Given the description of an element on the screen output the (x, y) to click on. 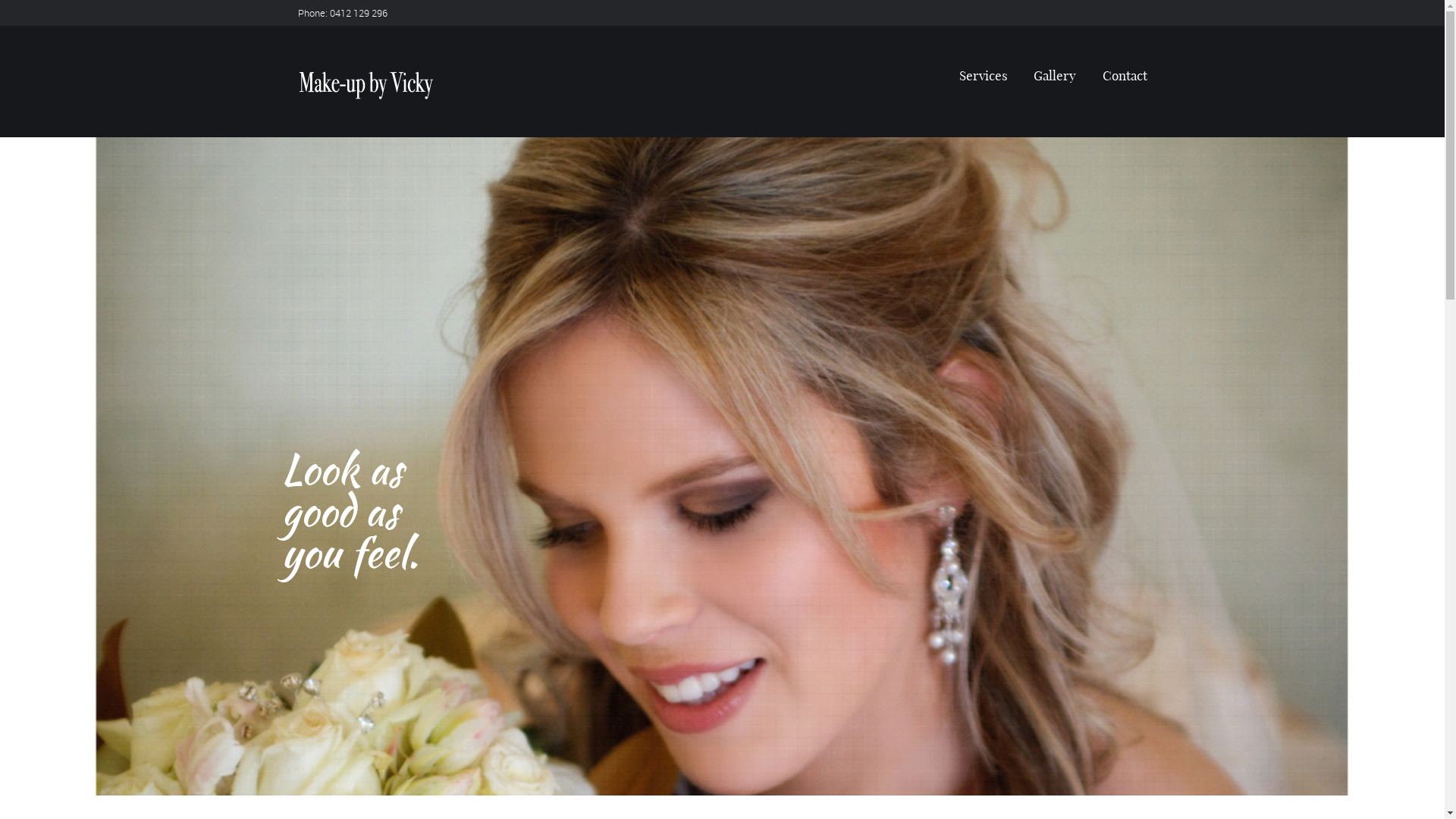
Gallery Element type: text (1054, 75)
Services Element type: text (983, 75)
Contact Element type: text (1122, 75)
